Given the description of an element on the screen output the (x, y) to click on. 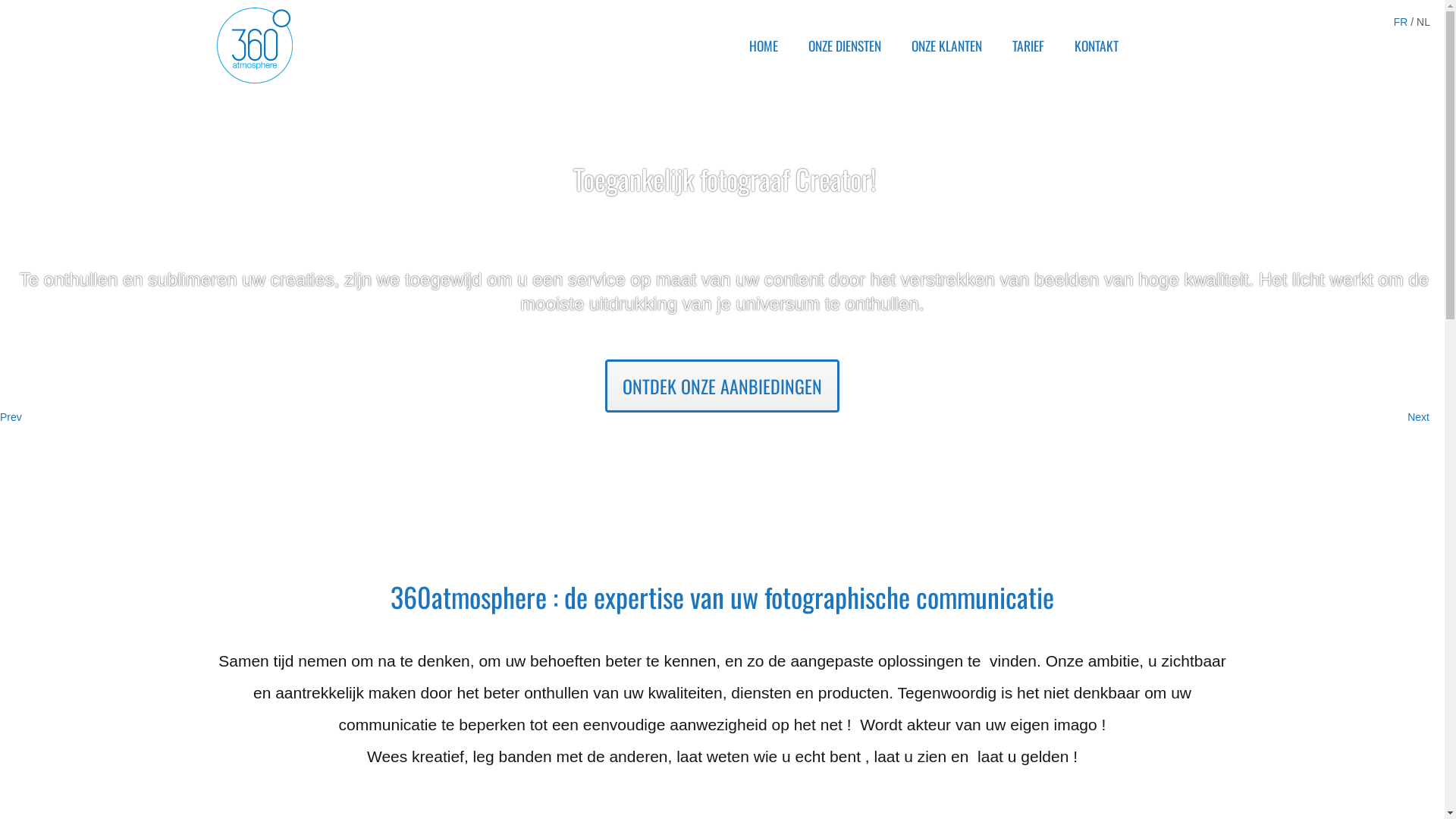
ONZE KLANTEN Element type: text (944, 45)
KONTAKT Element type: text (1094, 45)
HOME Element type: text (761, 45)
ONTDEK ONZE AANBIEDINGEN Element type: text (722, 385)
ONTDEK ONZE AANBIEDINGEN Element type: text (722, 366)
FR Element type: text (1402, 21)
ONZE DIENSTEN Element type: text (842, 45)
Prev Element type: text (10, 417)
TARIEF Element type: text (1026, 45)
Next Element type: text (1418, 417)
